Given the description of an element on the screen output the (x, y) to click on. 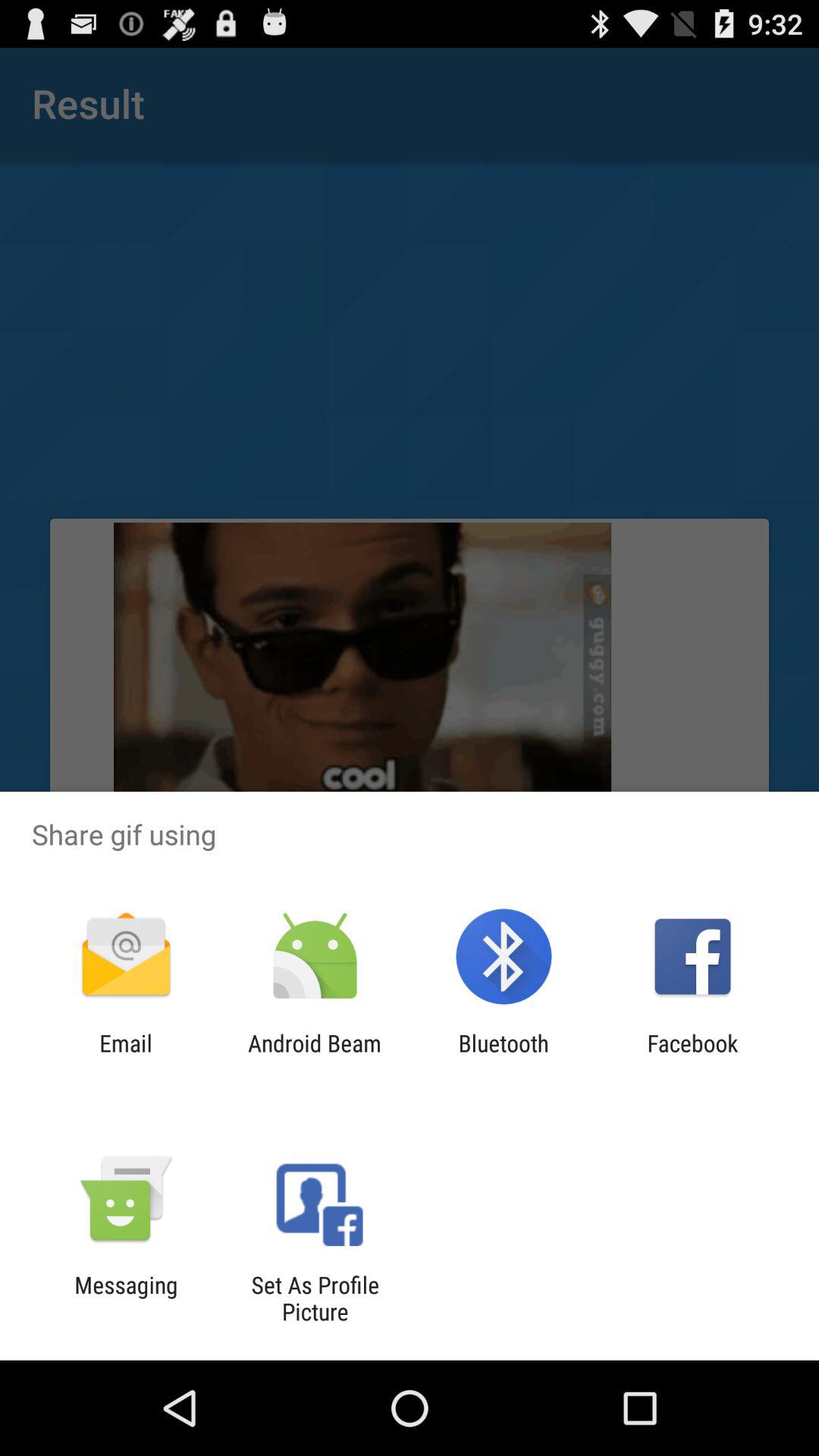
turn on icon next to the android beam (125, 1056)
